Given the description of an element on the screen output the (x, y) to click on. 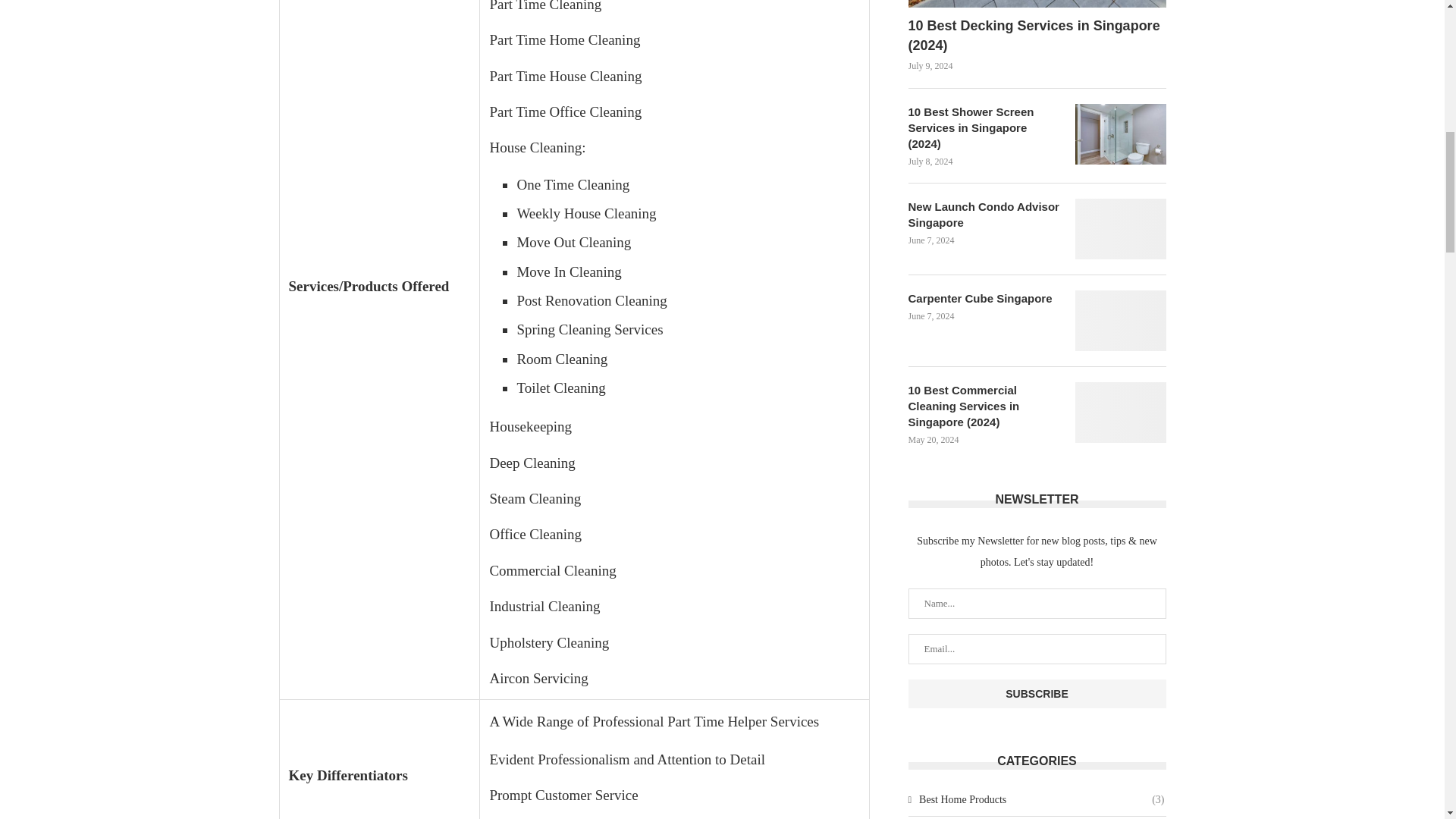
Subscribe (1037, 693)
